Given the description of an element on the screen output the (x, y) to click on. 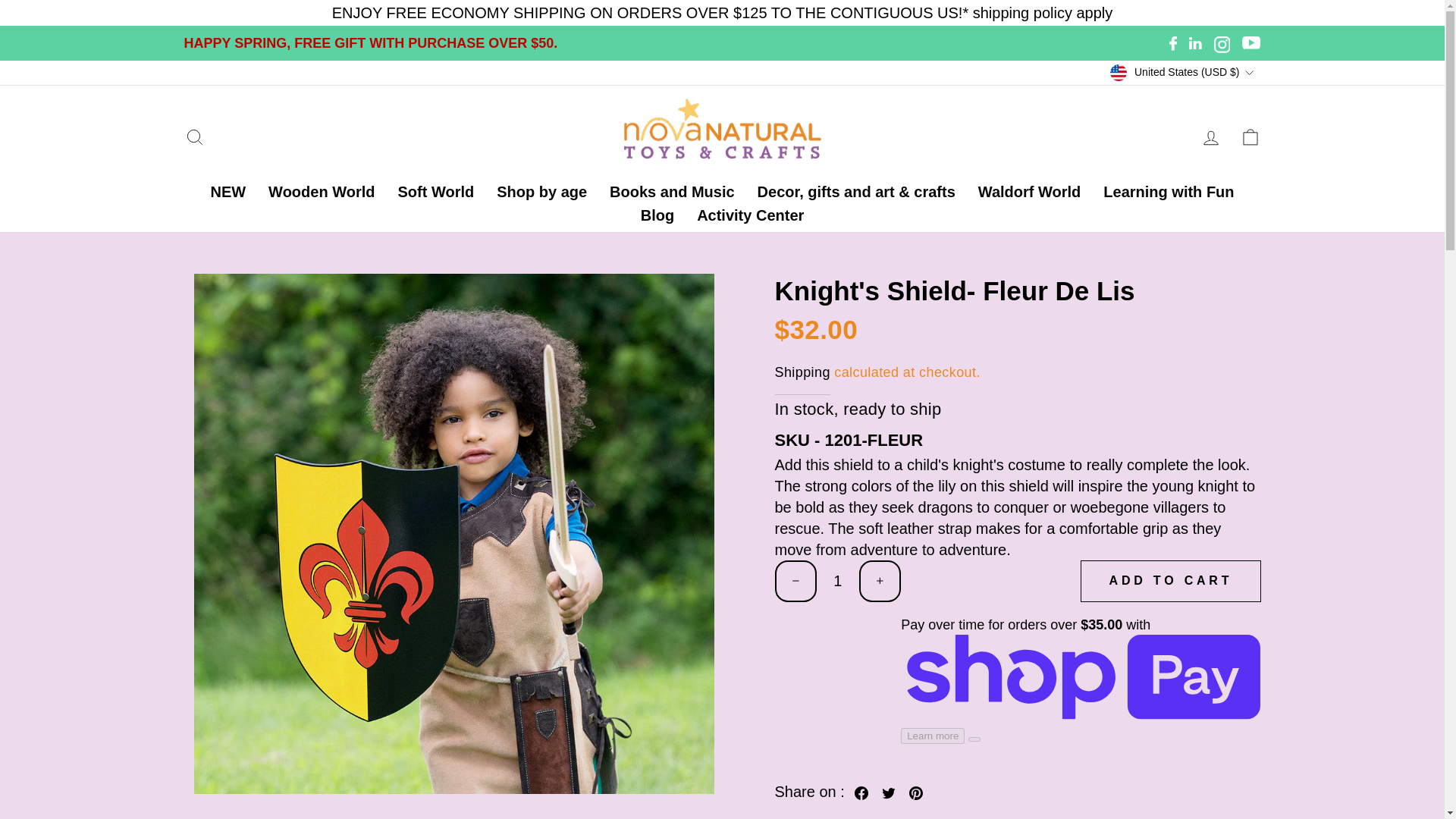
LinkedIn (1195, 42)
1 (837, 580)
Instagram (1222, 42)
YouTube (1250, 42)
